Given the description of an element on the screen output the (x, y) to click on. 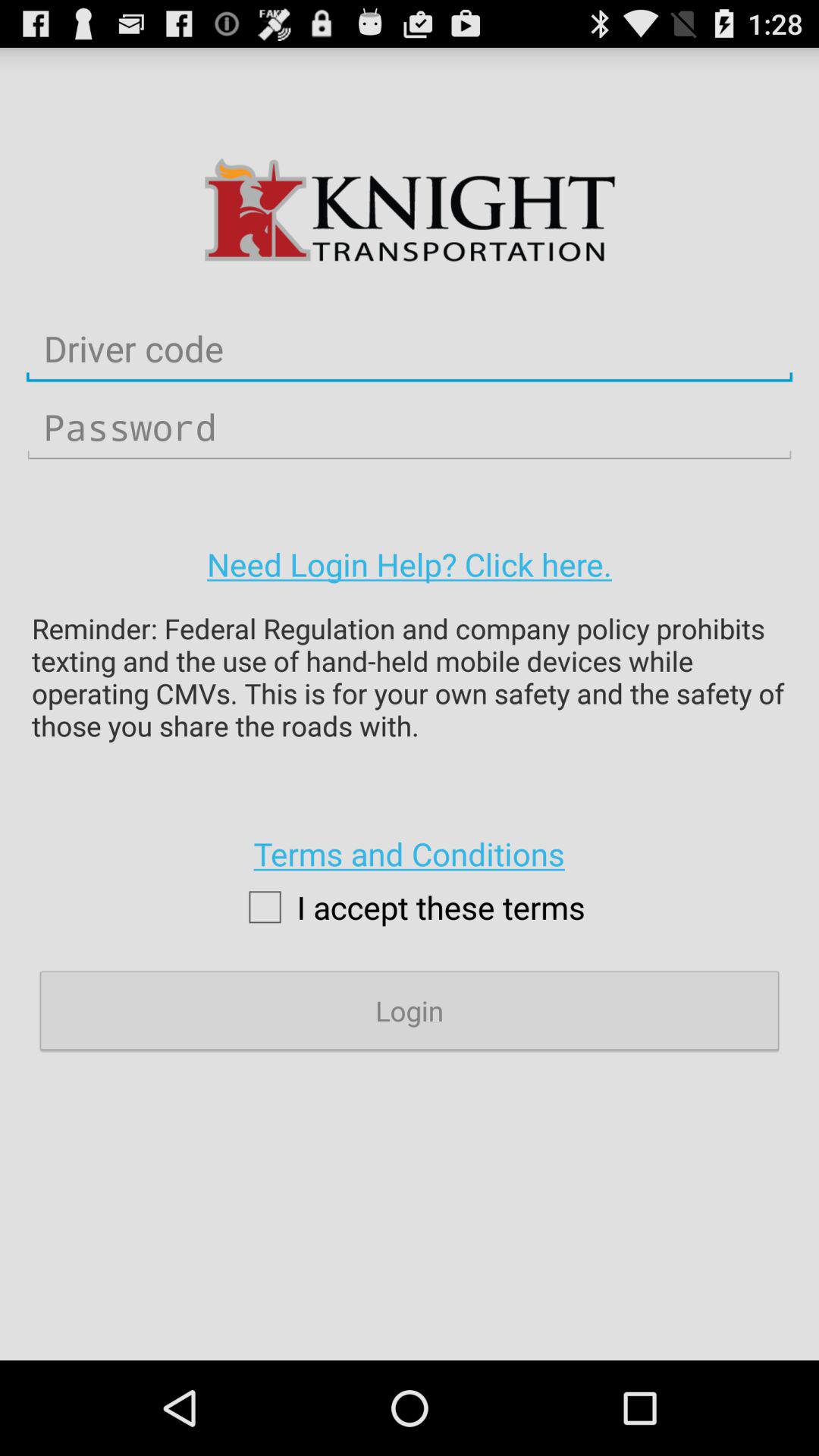
put the password on box (409, 427)
